Given the description of an element on the screen output the (x, y) to click on. 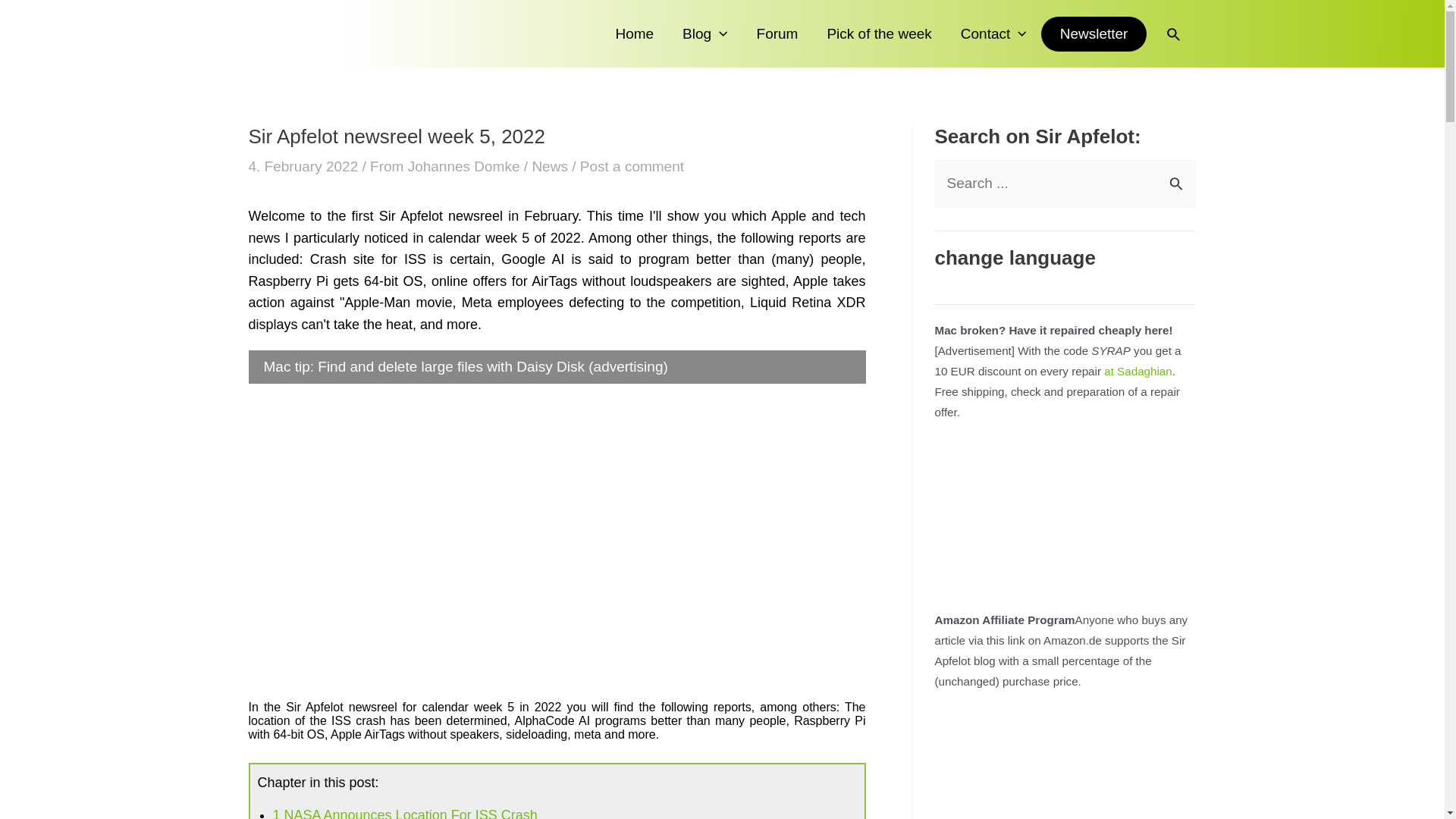
Search (1178, 176)
Forum (777, 33)
Search (1178, 176)
View all posts by Johannes Domke (465, 166)
Blog (704, 33)
Pick of the week (878, 33)
Contact (993, 33)
Newsletter (1094, 33)
Home (633, 33)
